Given the description of an element on the screen output the (x, y) to click on. 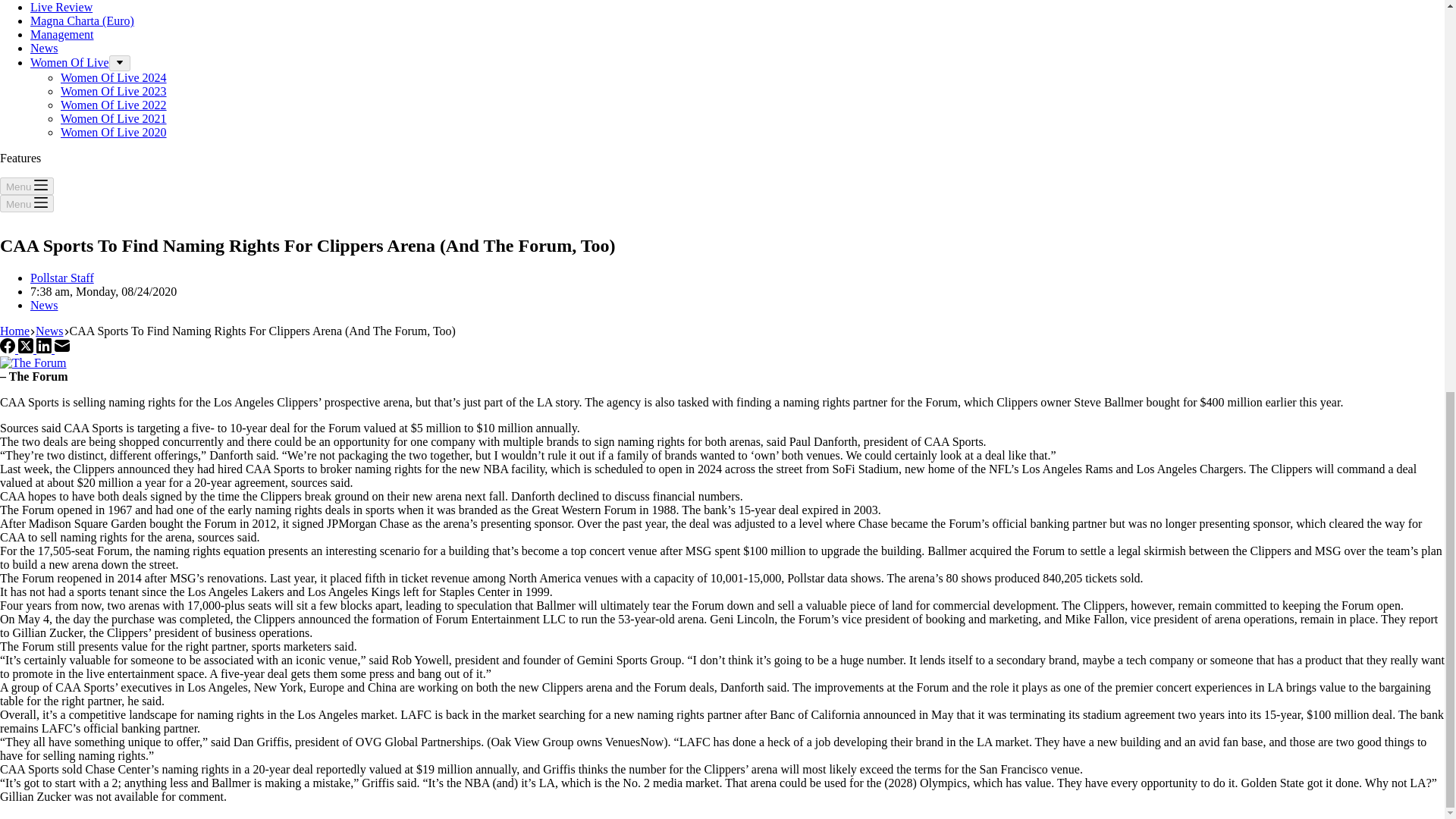
Posts by Pollstar Staff (62, 277)
